Given the description of an element on the screen output the (x, y) to click on. 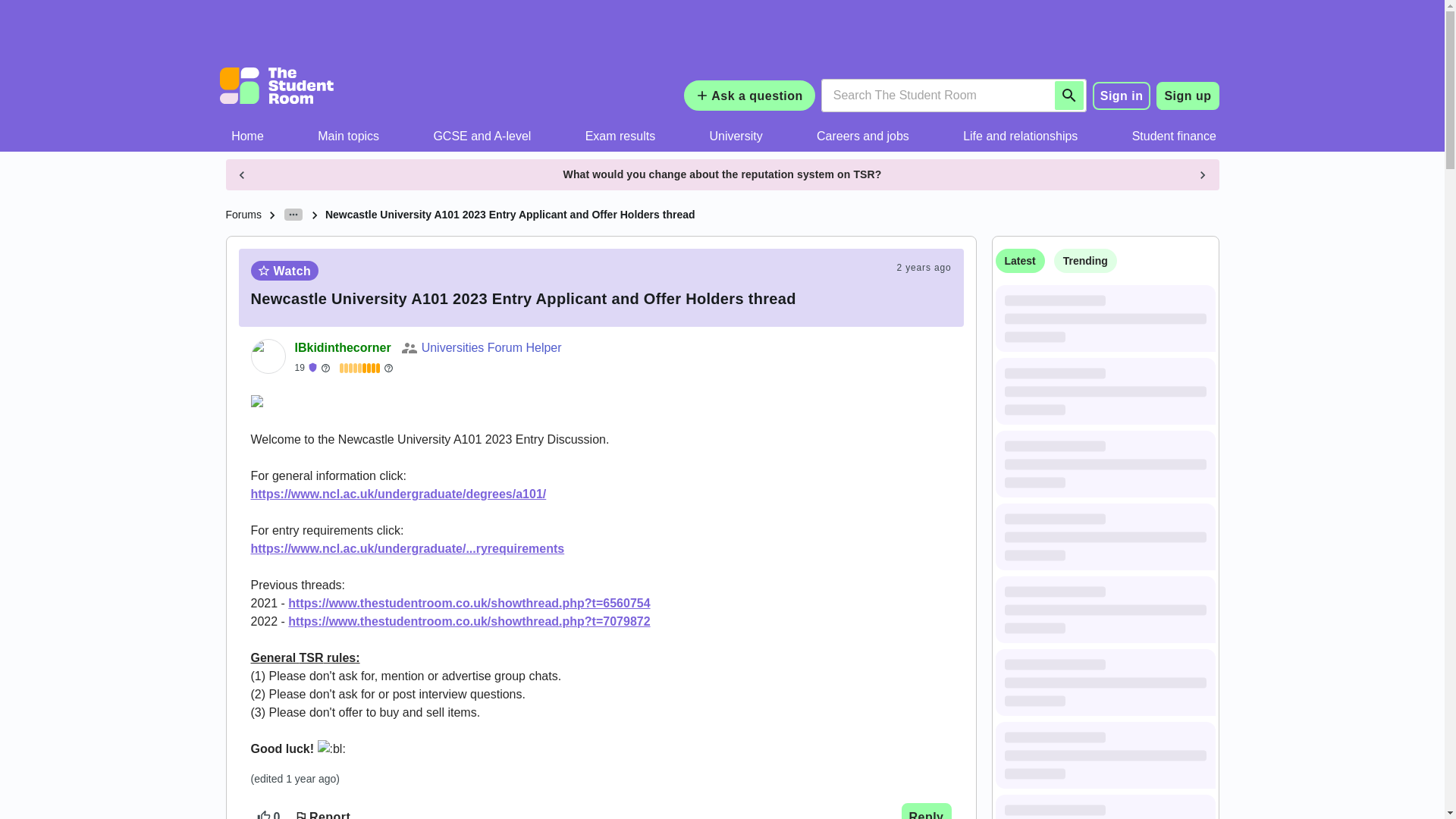
Sign in (1122, 95)
:bl: (331, 749)
Sign up (1187, 95)
Sign in (1122, 95)
Main topics (348, 136)
GCSE and A-level (481, 136)
Ask a question (749, 95)
Home (248, 136)
